Given the description of an element on the screen output the (x, y) to click on. 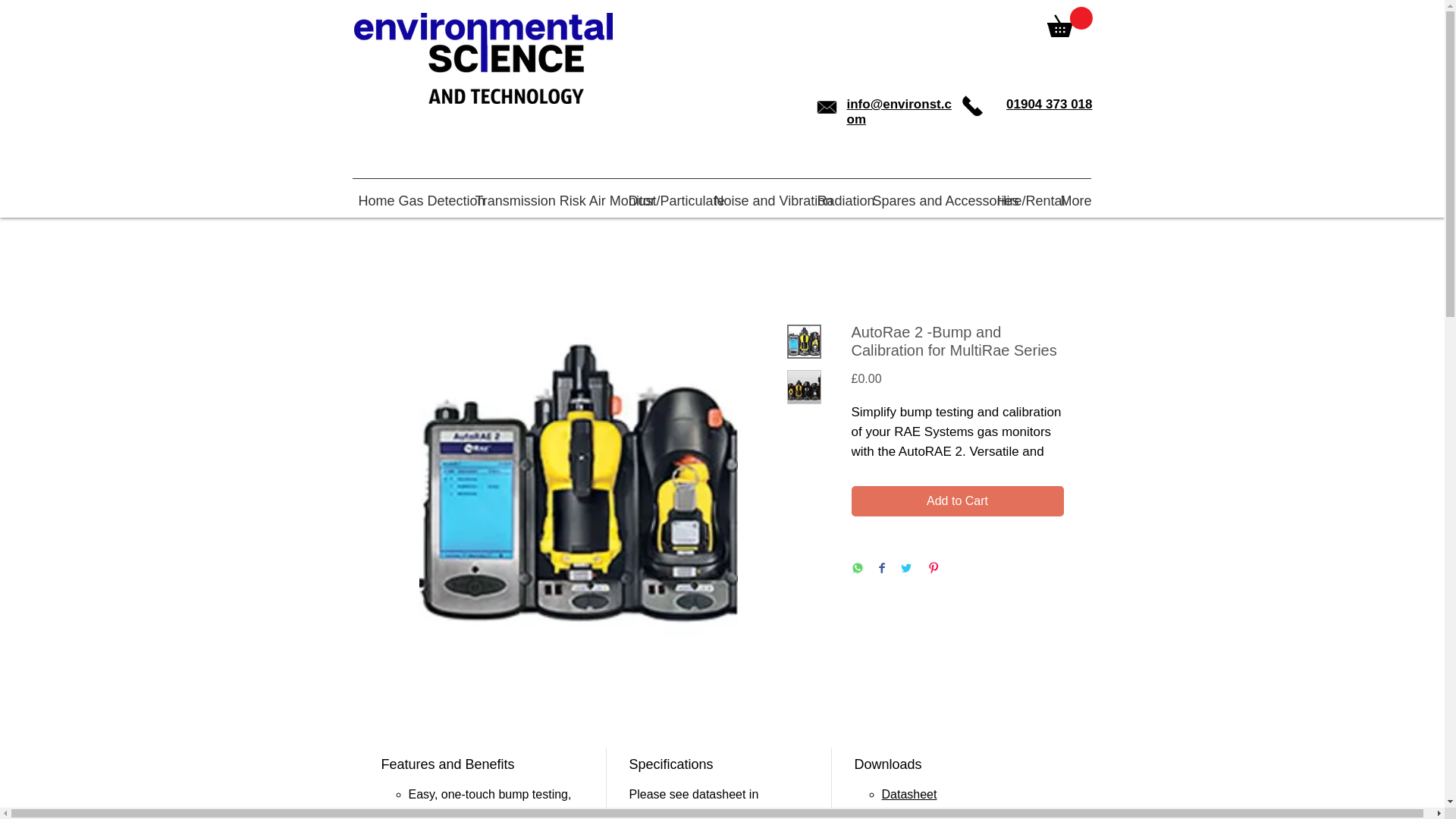
Home Page (482, 58)
Transmission Risk Air Monitor (544, 194)
Spares and Accessories (928, 194)
Radiation (838, 194)
Noise and Vibration (758, 194)
Home (371, 194)
01904 373 018 (1049, 104)
Gas Detection (430, 194)
